Given the description of an element on the screen output the (x, y) to click on. 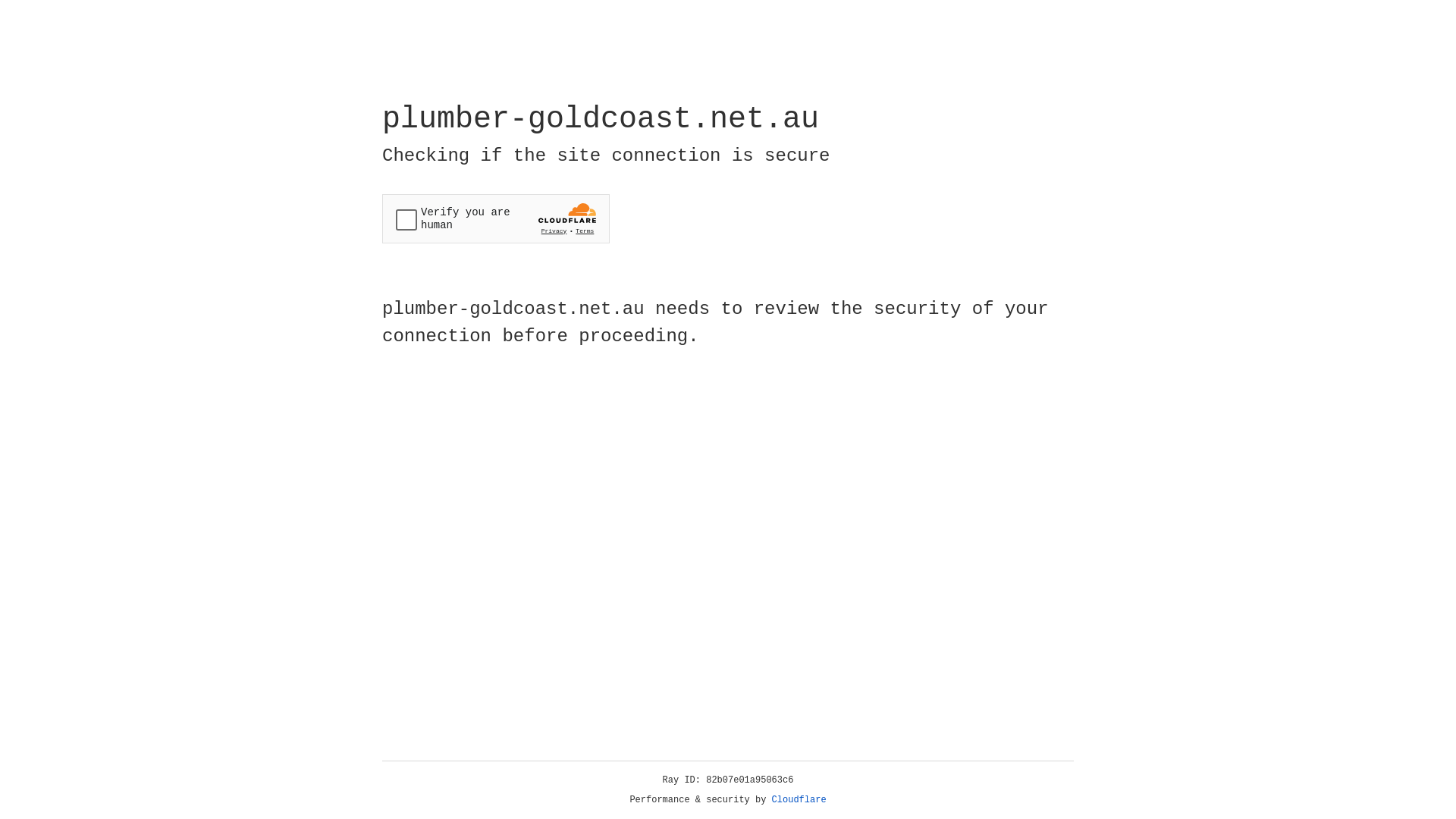
Widget containing a Cloudflare security challenge Element type: hover (495, 218)
Cloudflare Element type: text (798, 799)
